Given the description of an element on the screen output the (x, y) to click on. 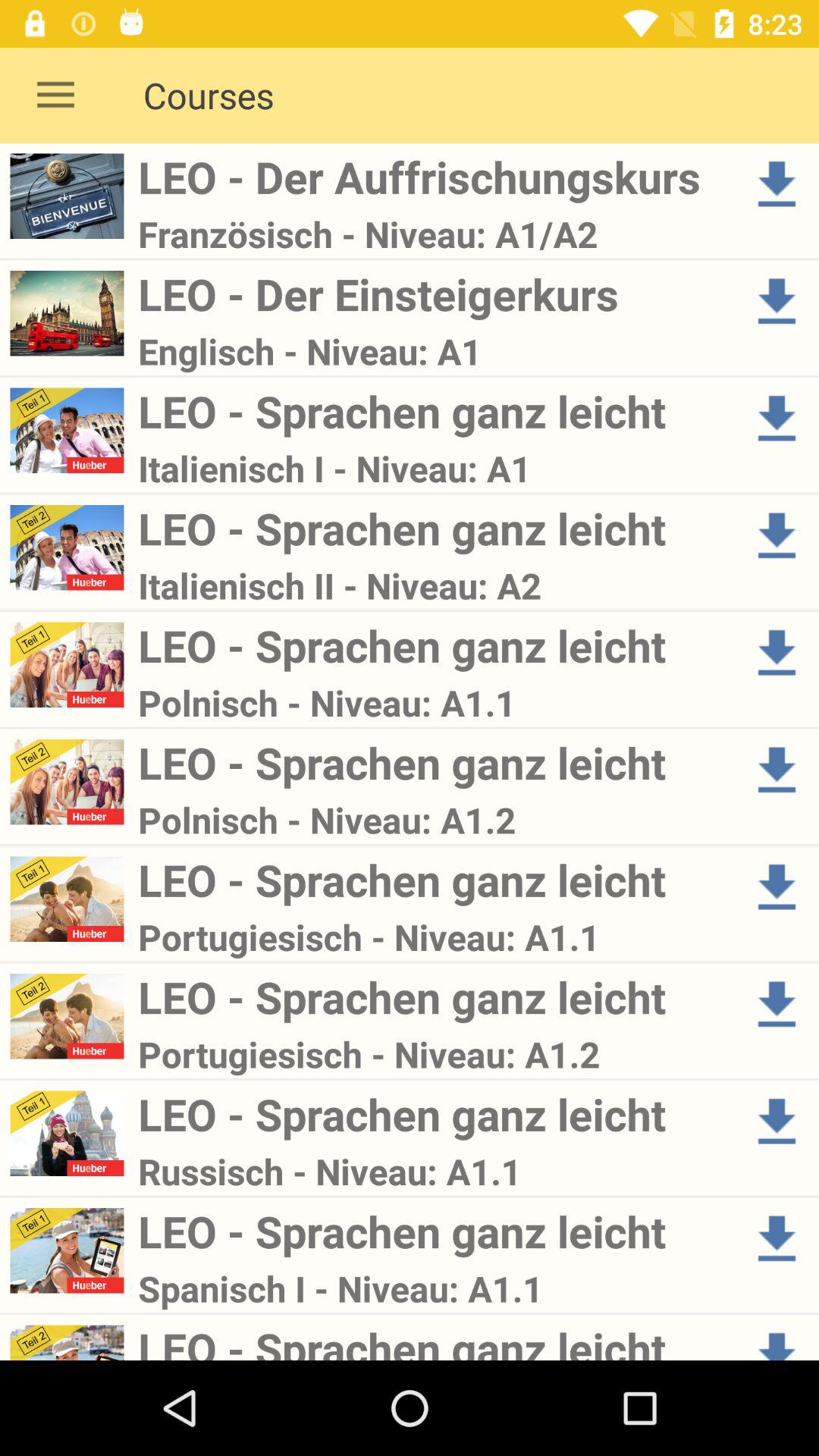
turn off the spanisch i niveau (434, 1288)
